Given the description of an element on the screen output the (x, y) to click on. 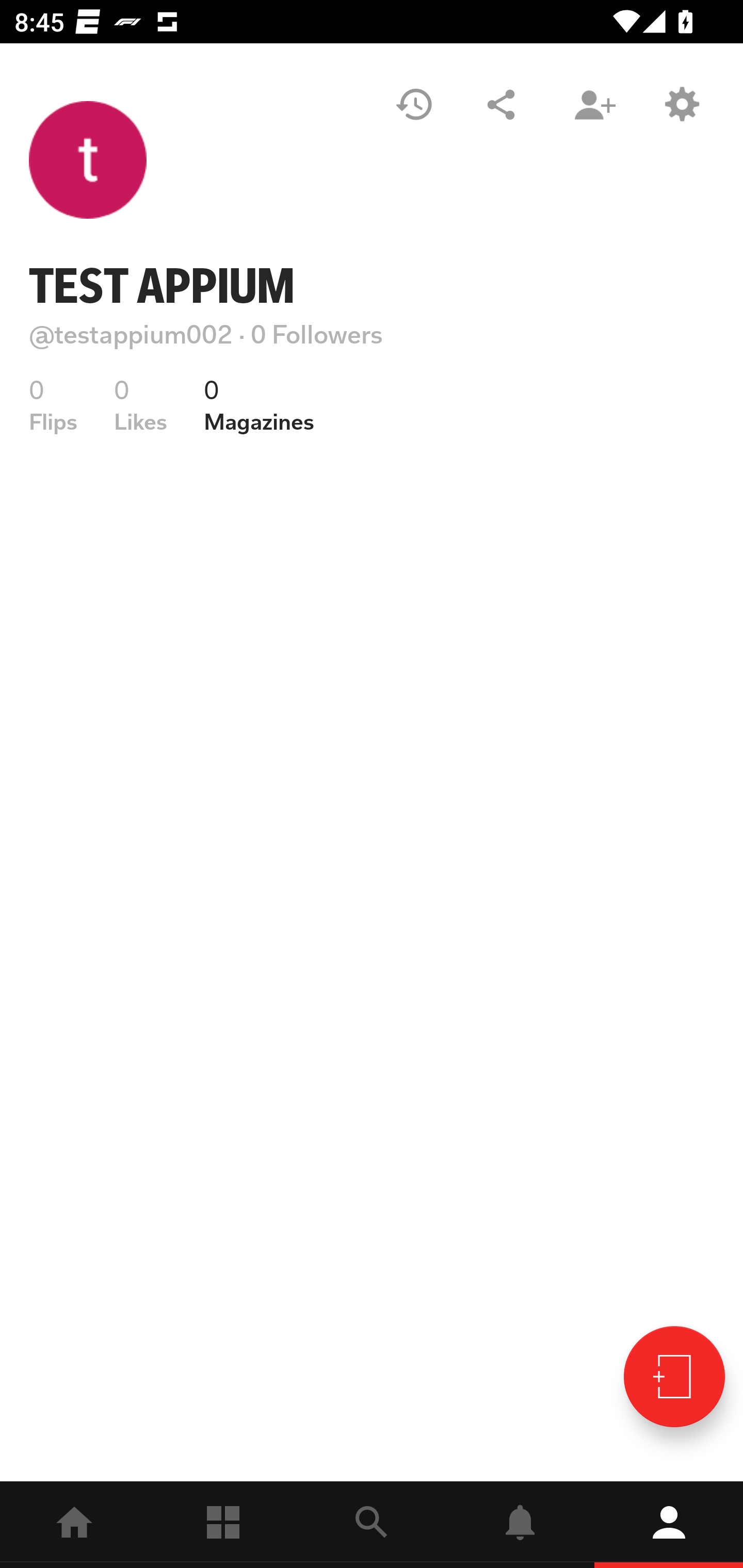
Share (500, 104)
Find Friends (594, 104)
Settings (681, 104)
TEST APPIUM (161, 286)
@testappium002 (130, 334)
0 Followers (317, 334)
0 Flips (53, 405)
0 Likes (140, 405)
0 Magazines (258, 405)
home (74, 1524)
Following (222, 1524)
explore (371, 1524)
Notifications (519, 1524)
Profile (668, 1524)
